Given the description of an element on the screen output the (x, y) to click on. 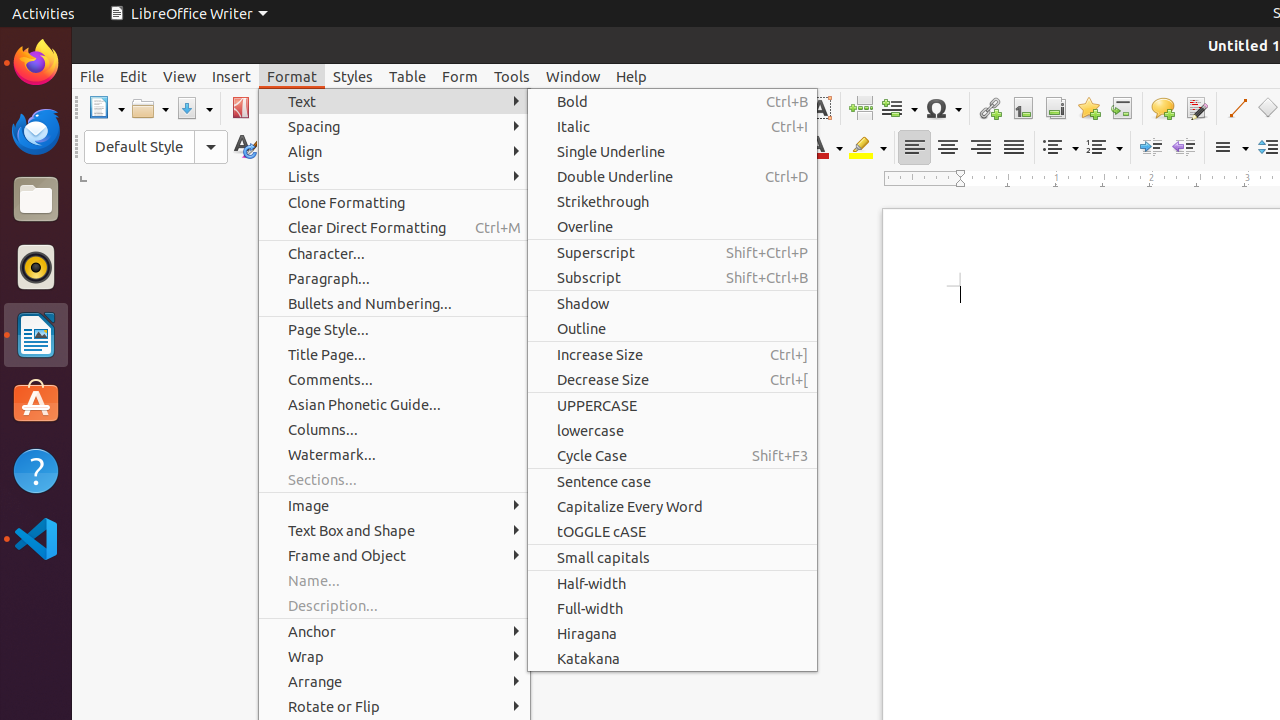
Clear Element type: push-button (777, 147)
Frame and Object Element type: menu (394, 555)
Superscript Element type: toggle-button (703, 147)
PDF Element type: push-button (240, 108)
Underline Element type: push-button (629, 147)
